Given the description of an element on the screen output the (x, y) to click on. 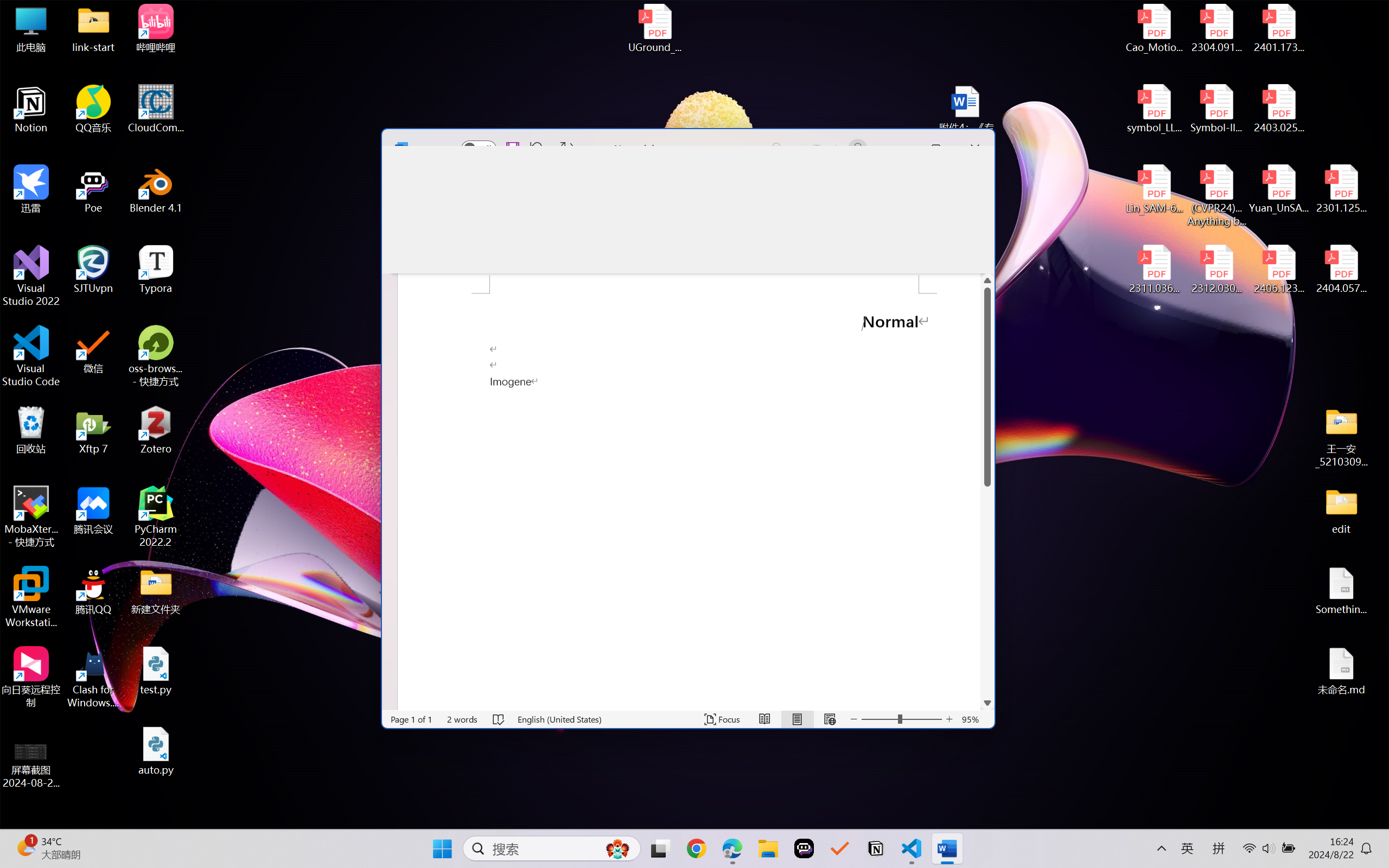
Google Chrome (696, 848)
2304.09121v3.pdf (1216, 28)
Symbol-llm-v2.pdf (1216, 109)
Maximize (935, 148)
